Given the description of an element on the screen output the (x, y) to click on. 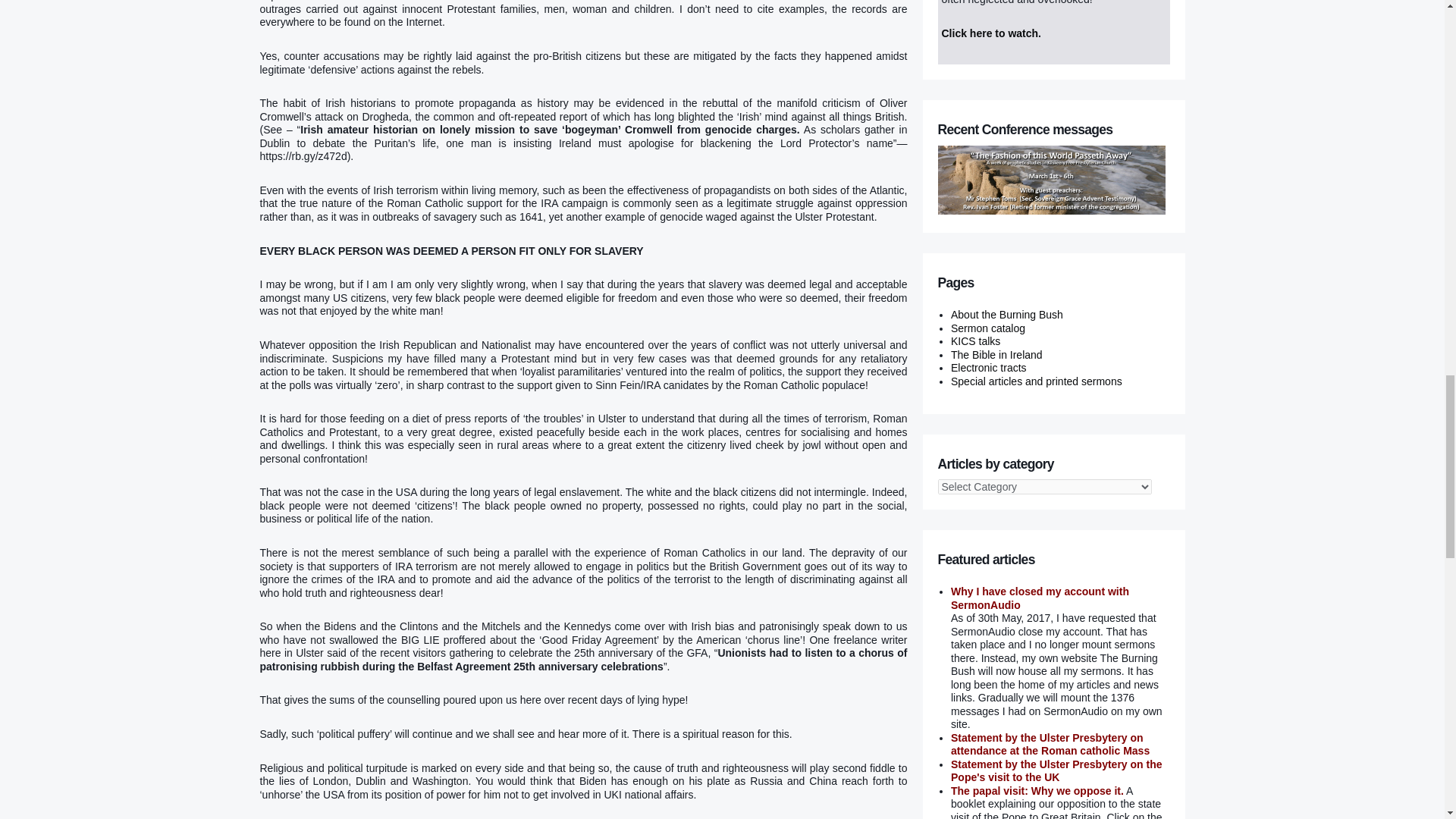
Click here to watch (990, 33)
Why I have closed my account with SermonAudio (1039, 597)
Electronic tracts (988, 367)
Sermon catalog (987, 328)
About the Burning Bush (1006, 314)
Special articles and printed sermons (1036, 381)
The Bible in Ireland (996, 354)
KICS talks (975, 340)
The papal visit: Why we oppose it. (1037, 790)
